Given the description of an element on the screen output the (x, y) to click on. 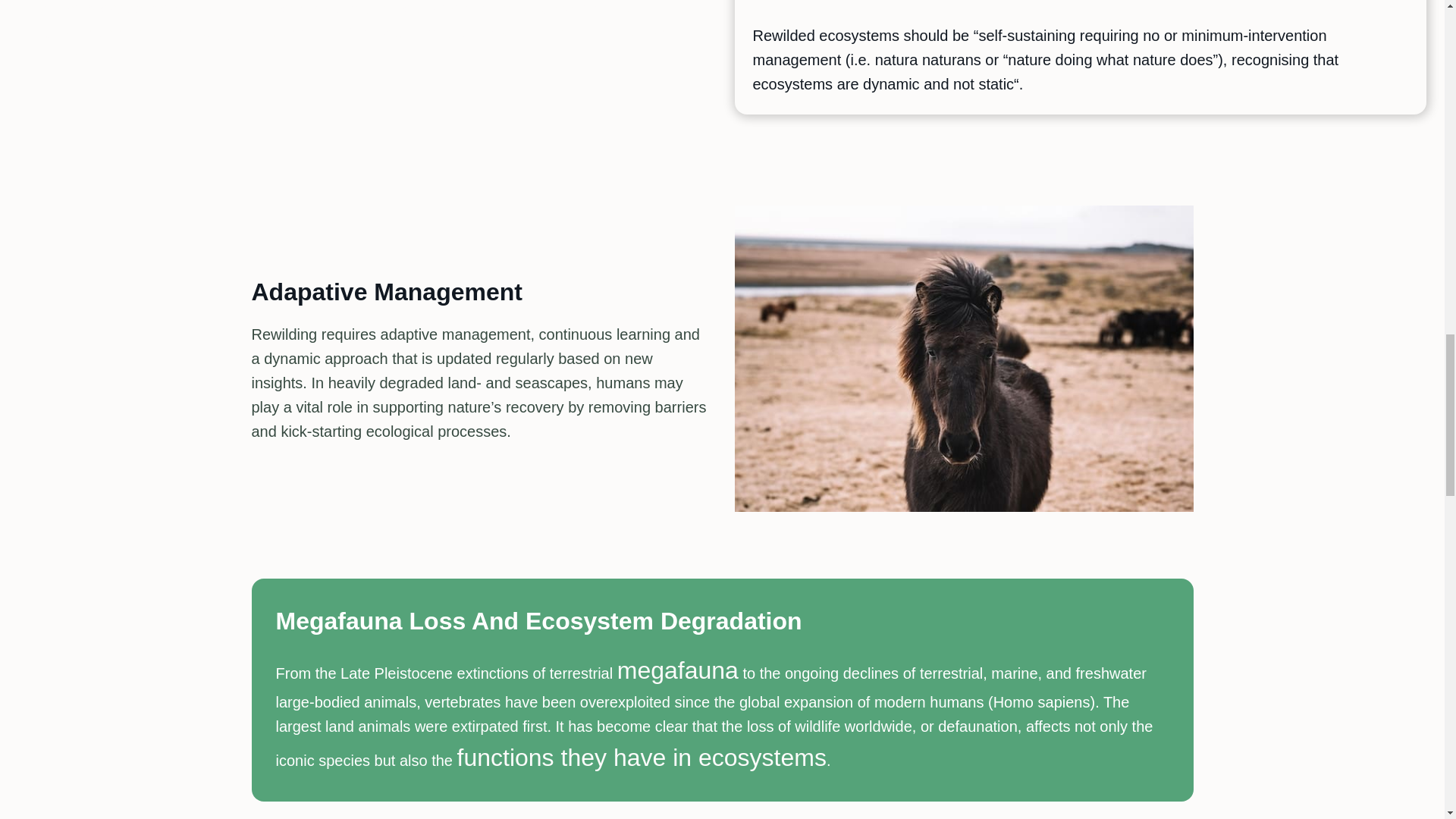
functions they have in ecosystems (642, 760)
megafauna (677, 673)
